Given the description of an element on the screen output the (x, y) to click on. 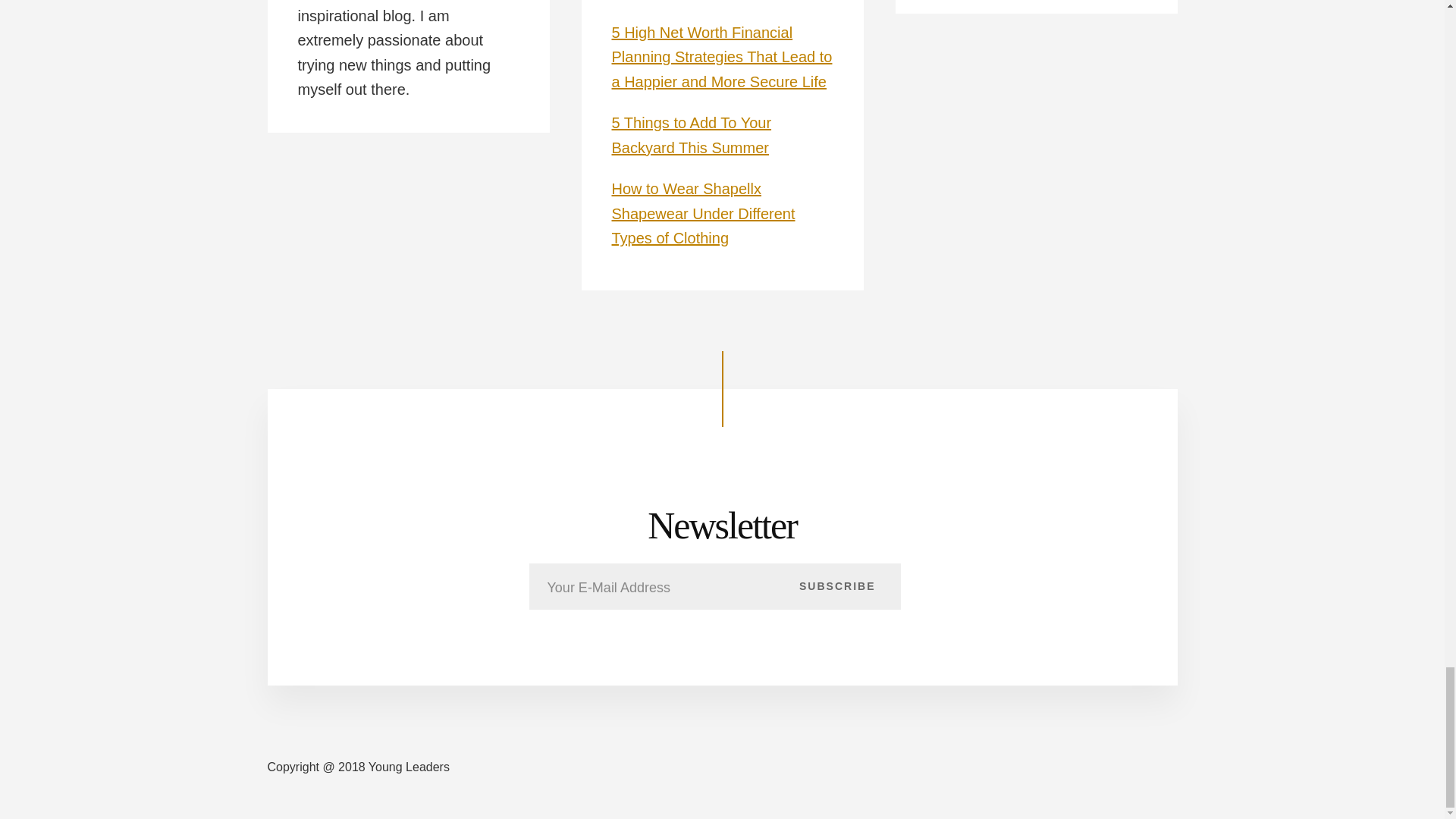
SUBSCRIBE (837, 585)
SUBSCRIBE (837, 585)
5 Things to Add To Your Backyard This Summer (691, 135)
